Given the description of an element on the screen output the (x, y) to click on. 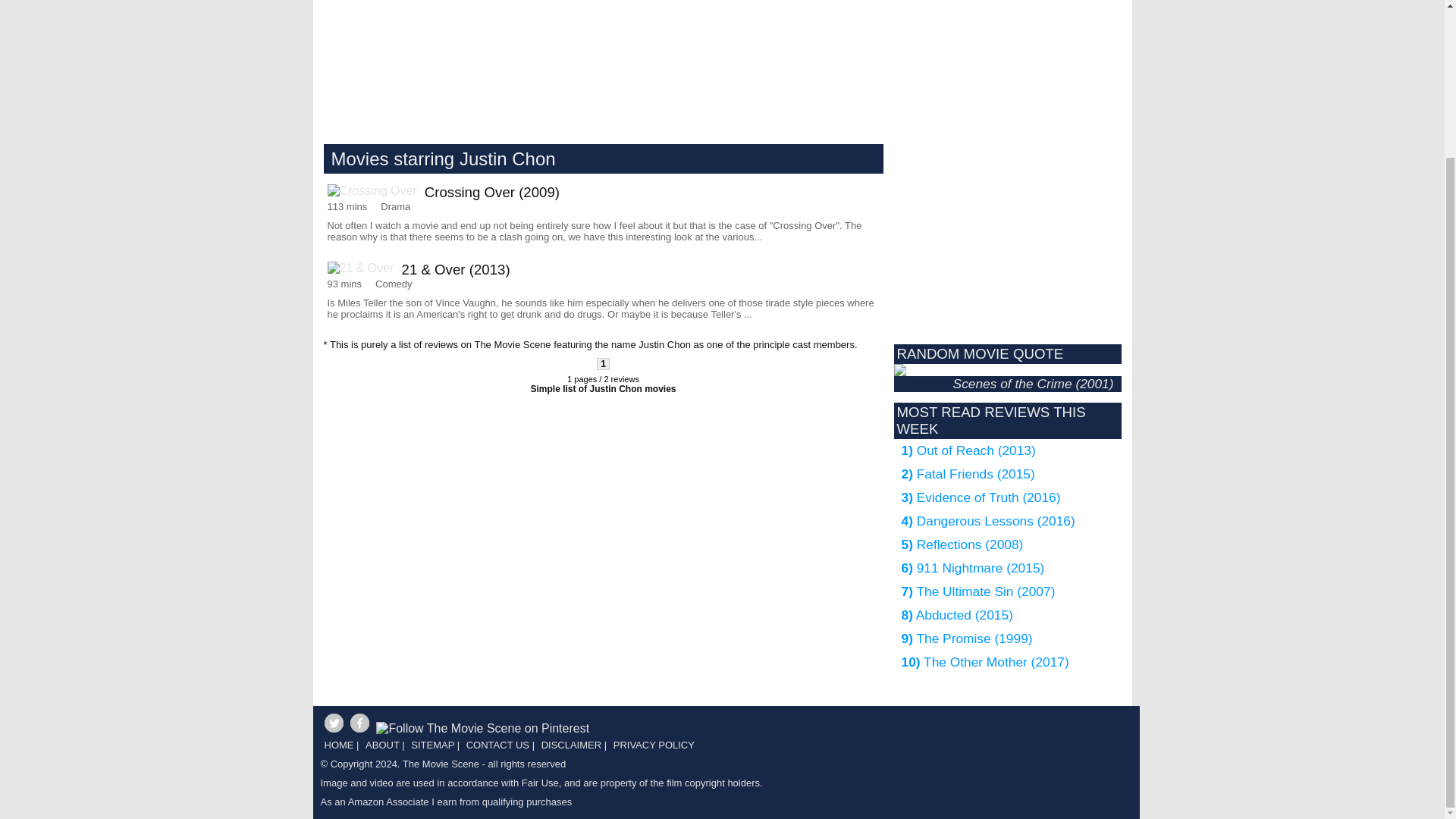
PRIVACY POLICY (652, 748)
1 (603, 363)
Crossing Over (376, 191)
DISCLAIMER (569, 748)
CONTACT US (496, 748)
SITEMAP (430, 748)
Simple List of movies starring Justin Chon (602, 388)
HOME (336, 748)
Click here for review of Crossing Over (603, 217)
1 (603, 363)
